Given the description of an element on the screen output the (x, y) to click on. 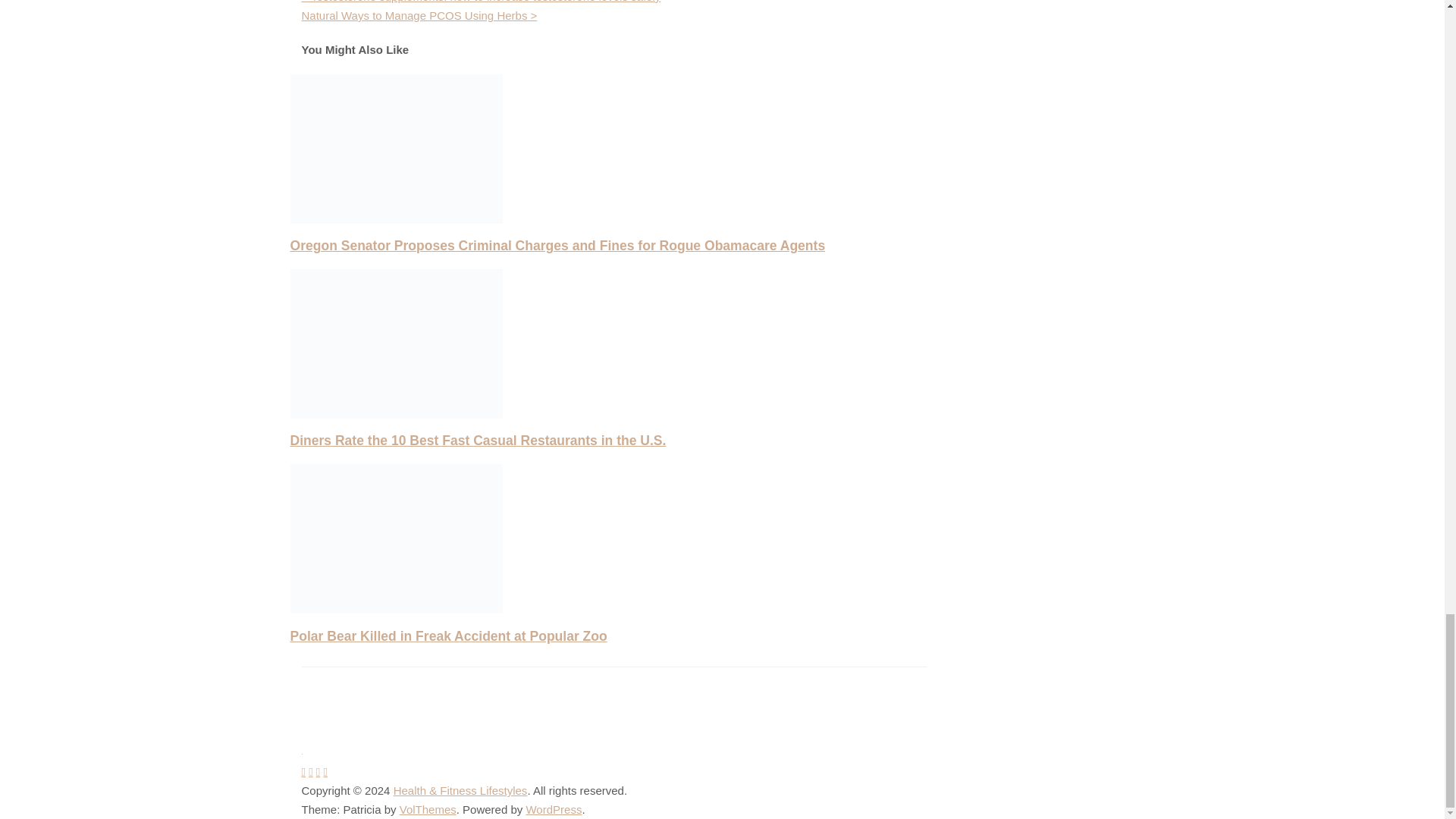
VolThemes (427, 809)
Diners Rate the 10 Best Fast Casual Restaurants in the U.S. (477, 440)
WordPress (552, 809)
Polar Bear Killed in Freak Accident at Popular Zoo (448, 635)
